Given the description of an element on the screen output the (x, y) to click on. 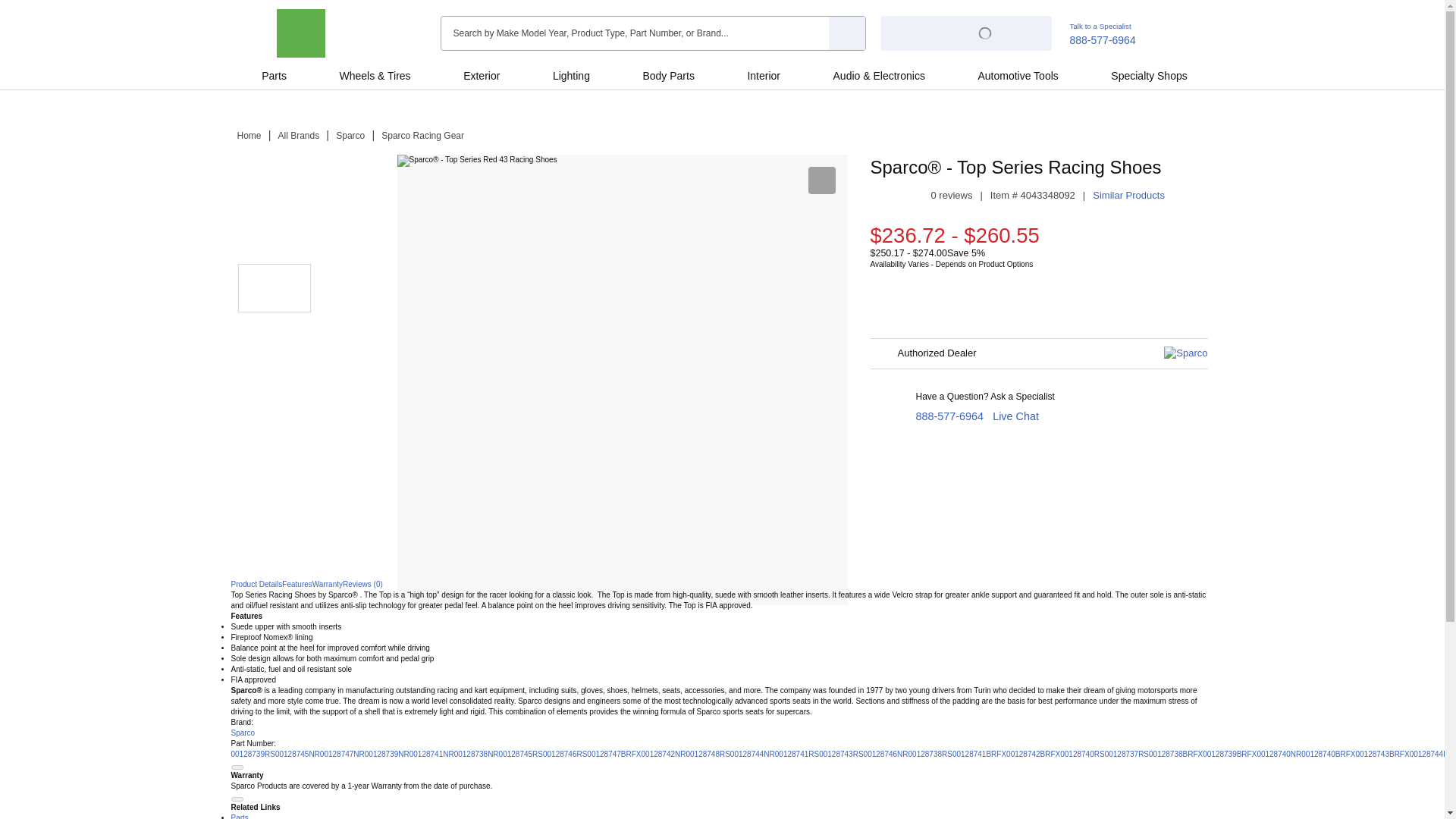
Sparco Special Offers (353, 233)
Warranty (327, 583)
00128739NR (387, 754)
Automotive Tools (1017, 75)
Interior (763, 75)
Lighting (570, 75)
00128747BRFX (613, 754)
Wheels (356, 75)
00128748RS (707, 754)
00128745NR (297, 754)
